Given the description of an element on the screen output the (x, y) to click on. 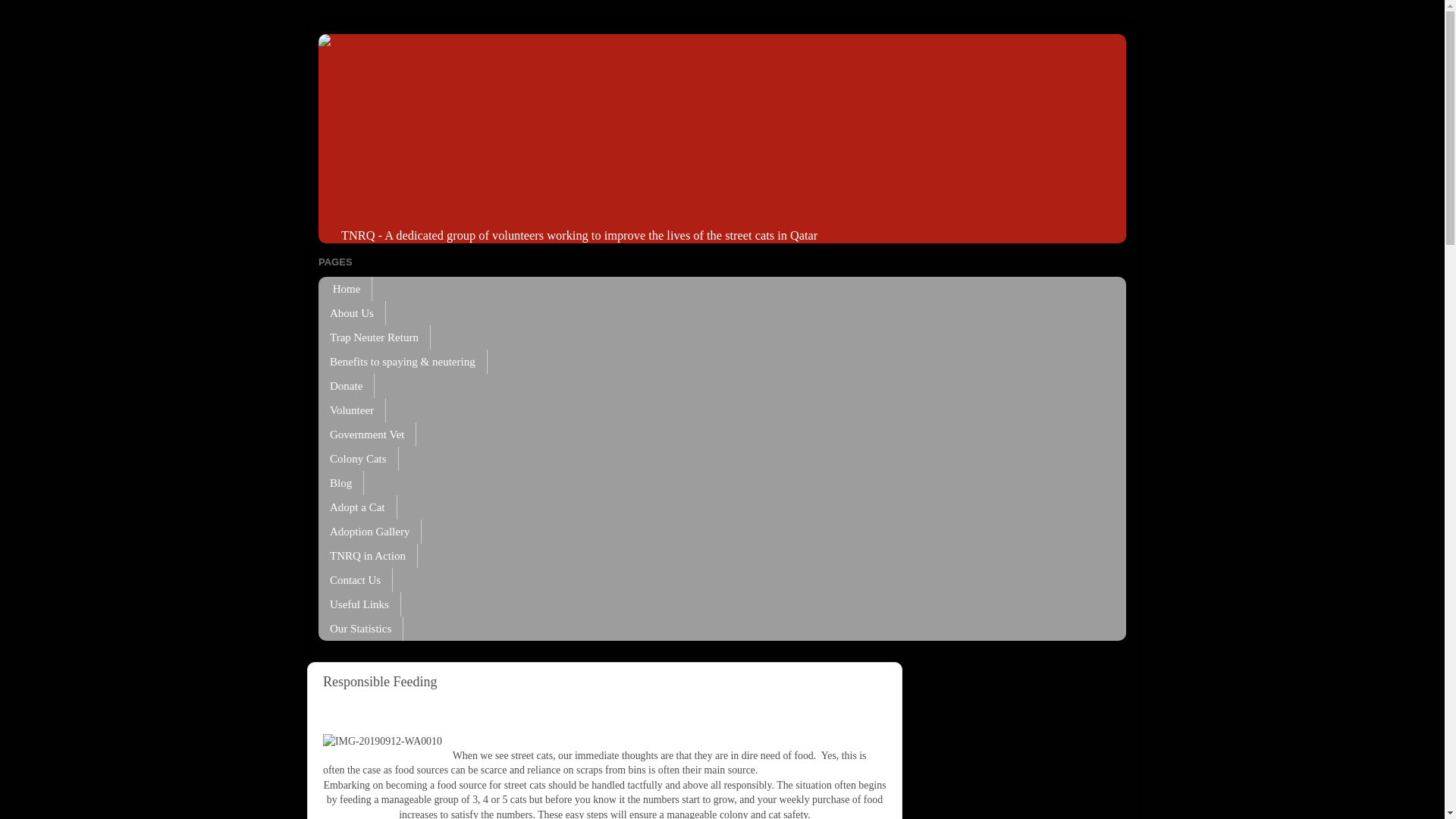
Contact Us (355, 580)
About Us (351, 313)
Adopt a Cat (357, 507)
Blog (341, 482)
Trap Neuter Return (374, 337)
Donate (346, 385)
Colony Cats (358, 458)
Home (345, 288)
Useful Links (359, 604)
Adoption Gallery (370, 531)
TNRQ in Action (367, 555)
Government Vet (367, 434)
Our Statistics (360, 628)
Volunteer (351, 410)
